Given the description of an element on the screen output the (x, y) to click on. 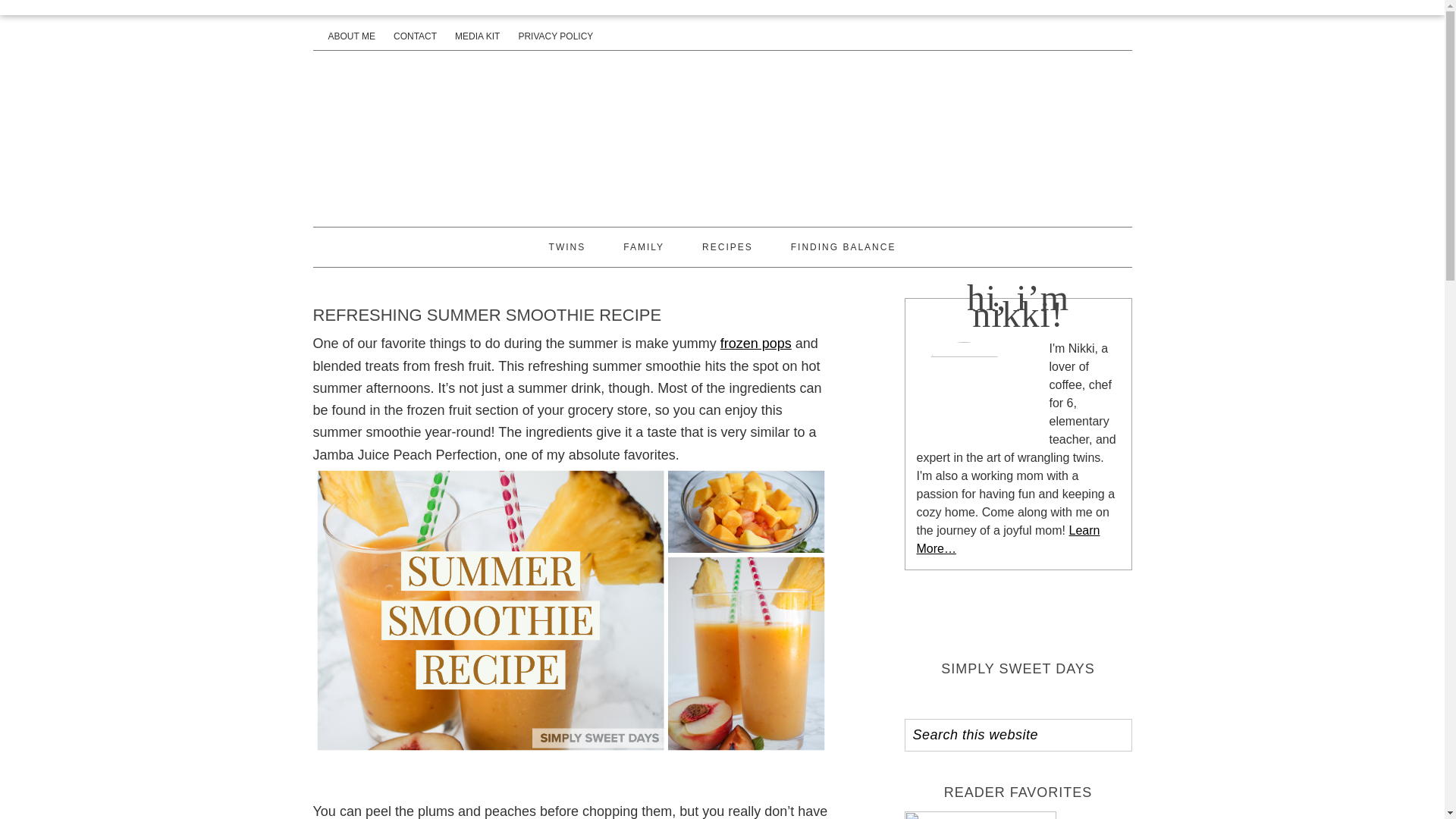
FAMILY (643, 246)
FINDING BALANCE (843, 246)
MEDIA KIT (476, 36)
PRIVACY POLICY (555, 36)
SIMPLY SWEET DAYS (722, 135)
frozen pops (756, 343)
CONTACT (414, 36)
ABOUT ME (350, 36)
